Given the description of an element on the screen output the (x, y) to click on. 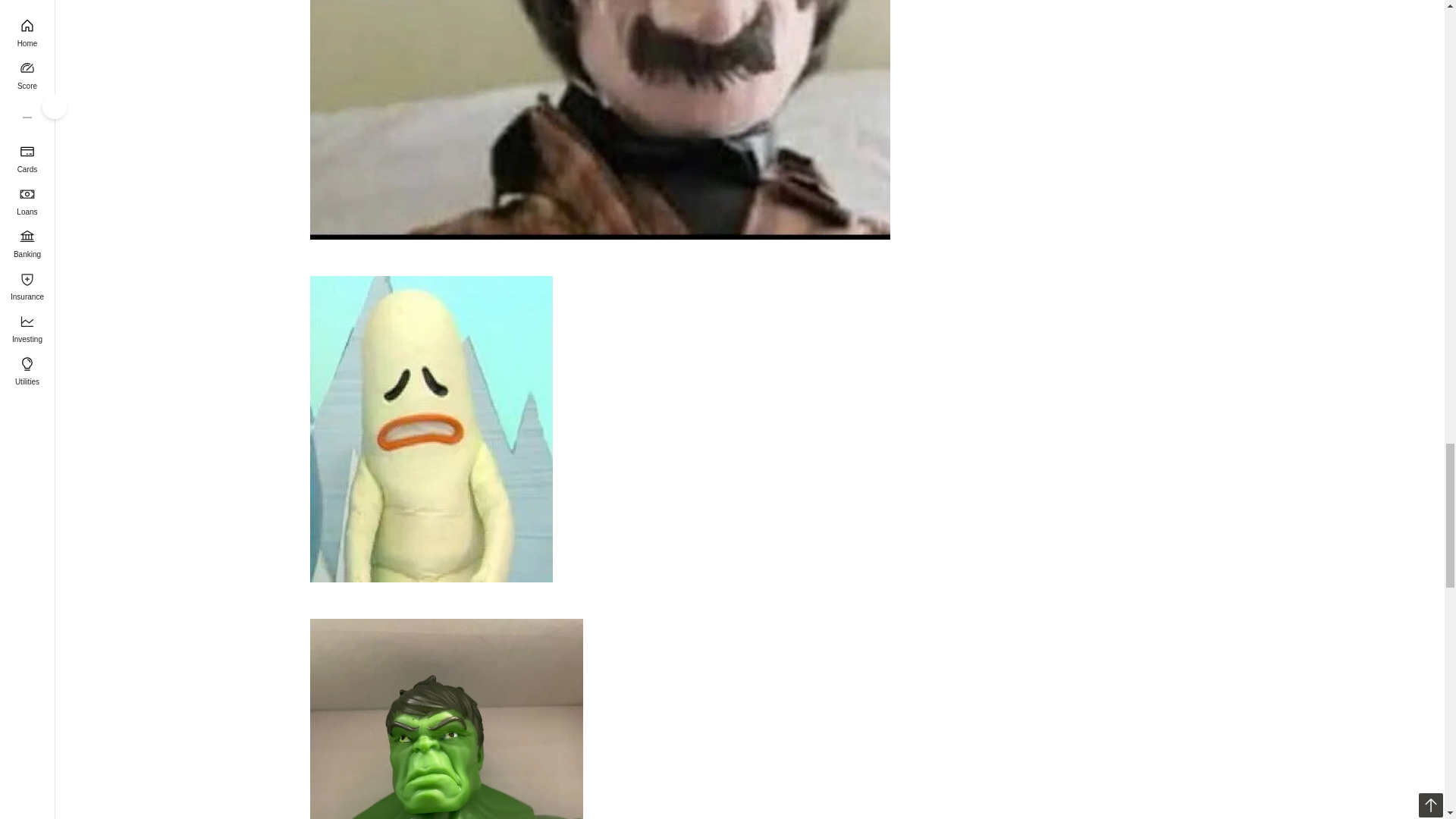
Image: Supplied (446, 719)
